Given the description of an element on the screen output the (x, y) to click on. 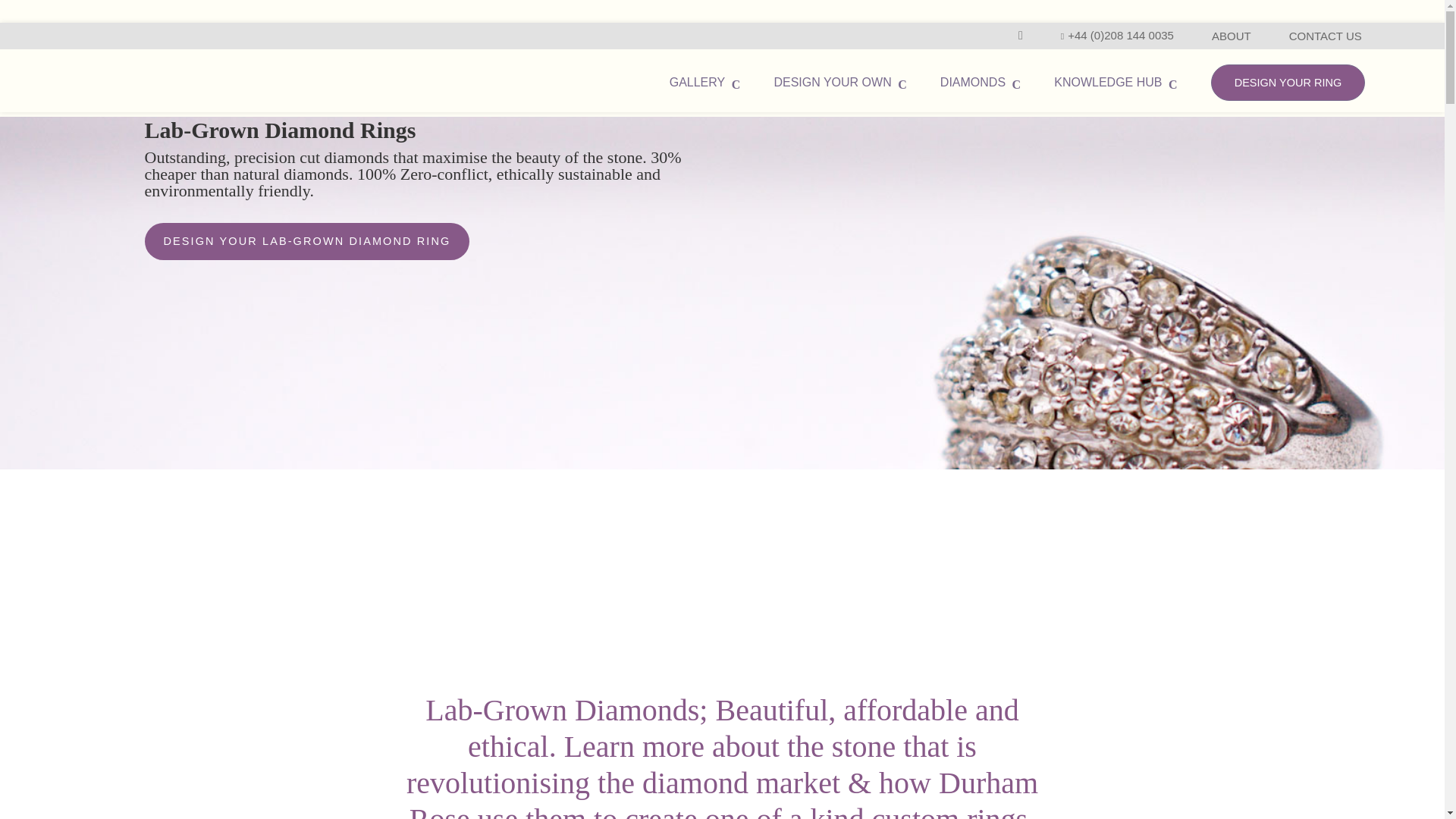
GALLERY (705, 82)
ABOUT (1230, 35)
CONTACT US (1324, 35)
